Given the description of an element on the screen output the (x, y) to click on. 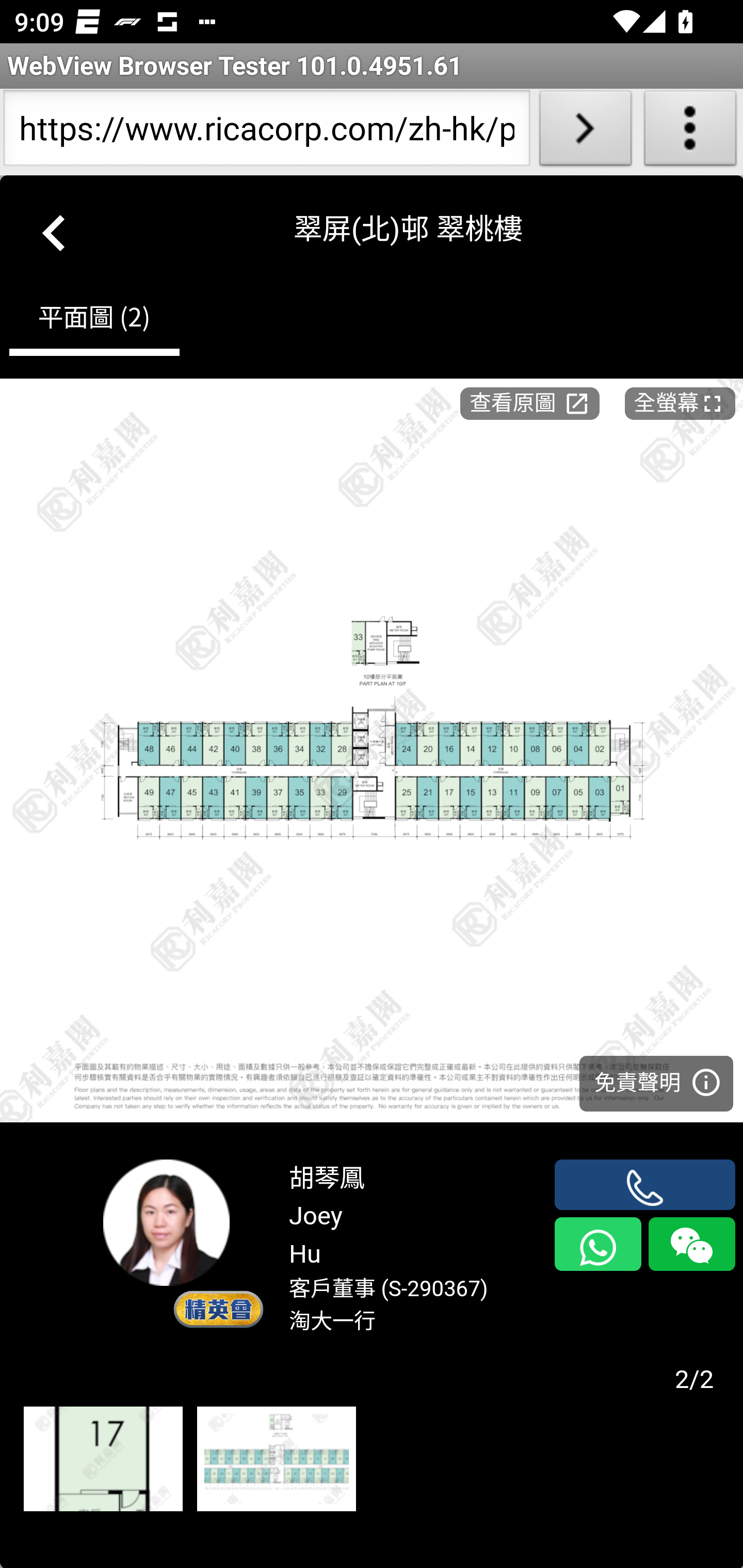
Load URL (585, 132)
About WebView (690, 132)
keyboard_arrow_left (54, 229)
平面圖 (2) (93, 320)
image (371, 749)
查看原圖launch (528, 402)
全螢幕fullscreen (679, 402)
免責聲明 (656, 1082)
phone (644, 1184)
whatsapp (597, 1244)
wechat (691, 1244)
161444_2000_Ricacorp (102, 1459)
161367_2000_Ricacorp (275, 1459)
